Given the description of an element on the screen output the (x, y) to click on. 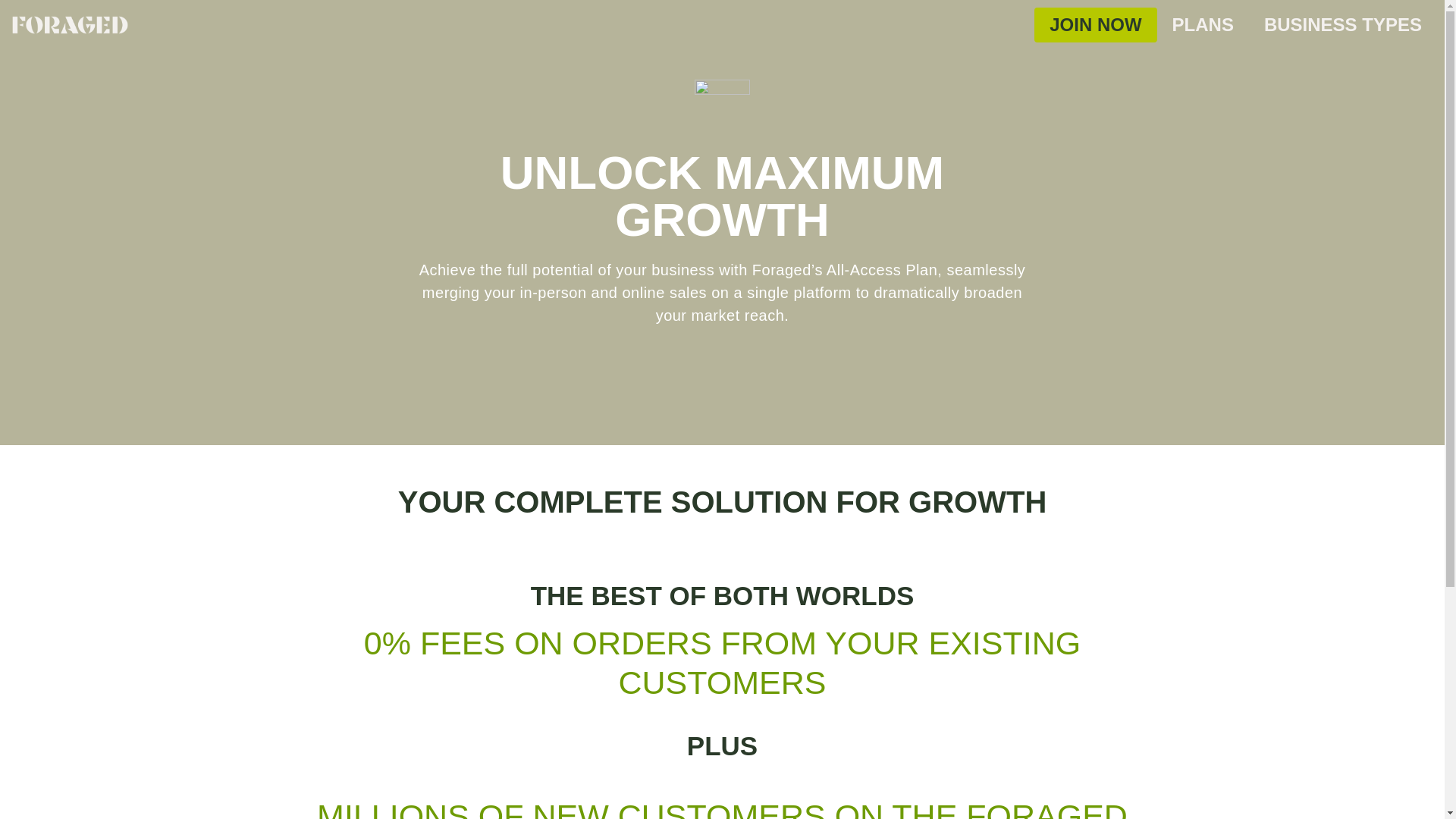
JOIN NOW (1094, 24)
BUSINESS TYPES (1343, 24)
PLANS (1203, 24)
